Given the description of an element on the screen output the (x, y) to click on. 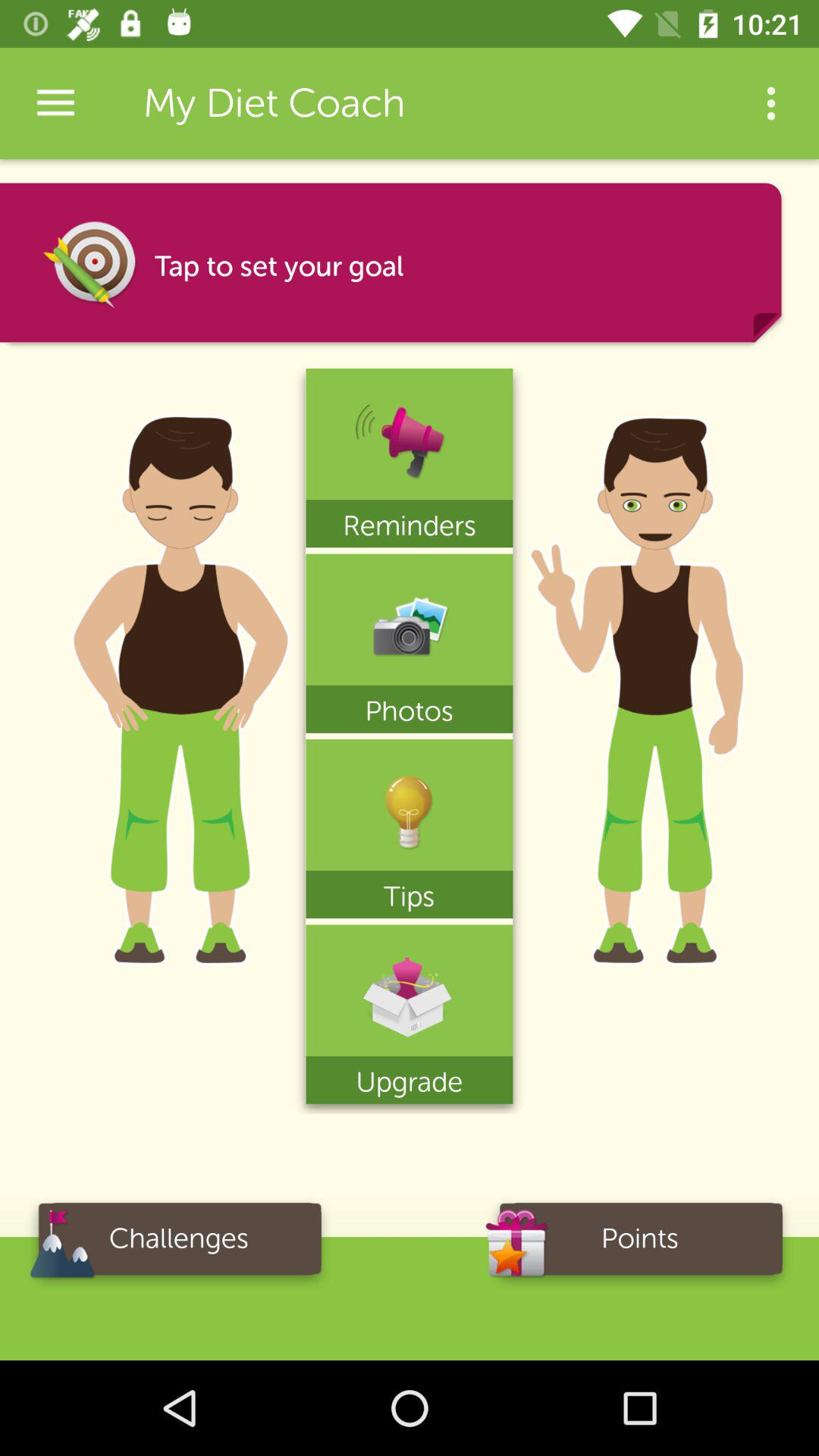
turn off item at the top right corner (771, 103)
